Given the description of an element on the screen output the (x, y) to click on. 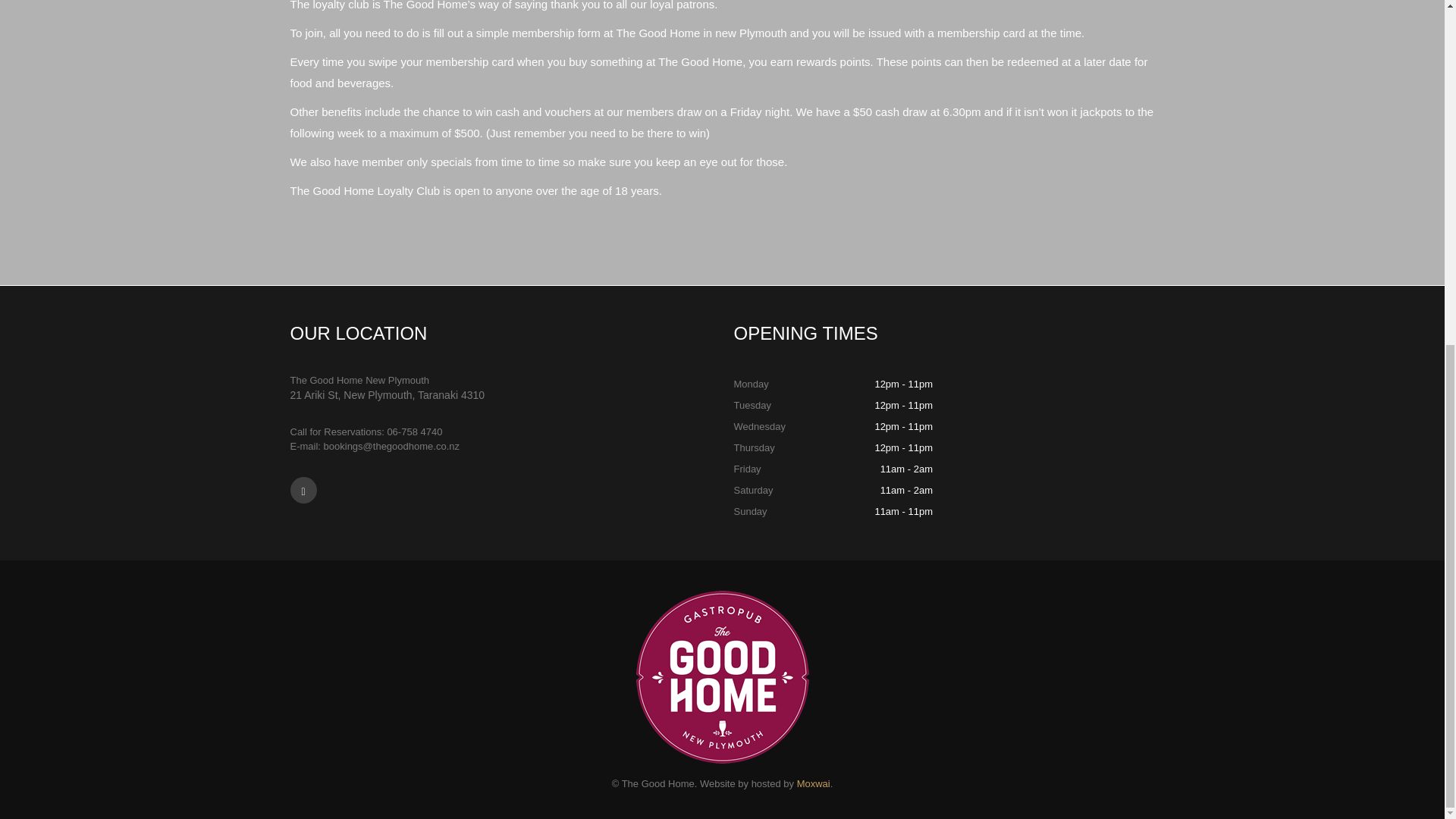
Moxwai (812, 783)
